Given the description of an element on the screen output the (x, y) to click on. 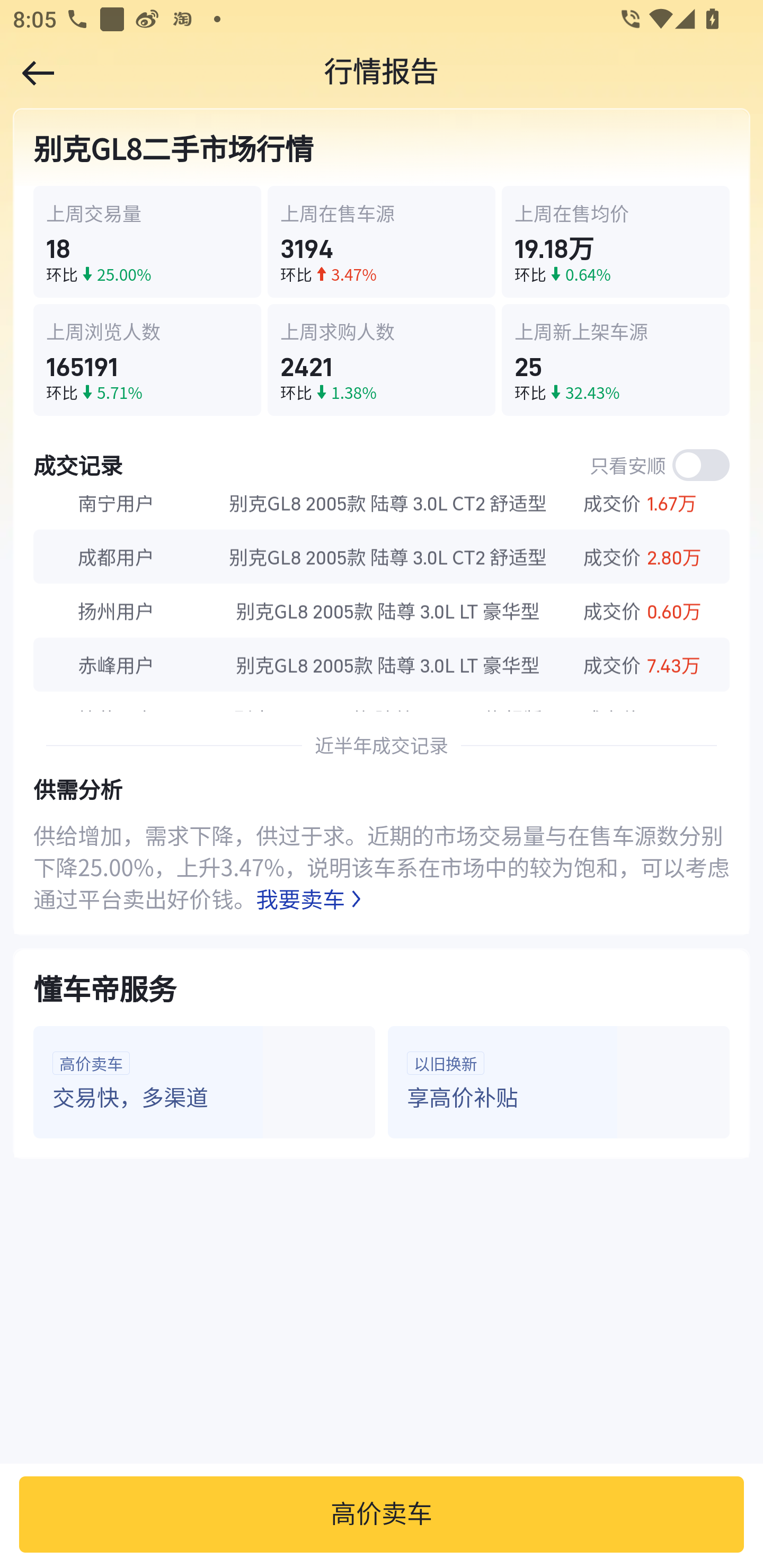
行情报告 (381, 72)
18 环比 25.00 % (147, 242)
上周在售车源 上周在售车源 上周在售车源 3194 环比 3.47 % (381, 242)
上周在售均价 上周在售均价 19.18万 环比 0.64 % (614, 242)
上周在售车源 上周在售车源 上周在售车源 (381, 213)
上周在售均价 (615, 213)
165191 环比 5.71 % (147, 360)
上周求购人数 上周求购人数 上周求购人数 2421 环比 1.38 % (381, 360)
上周新上架车源 上周新上架车源 25 环比 32.43 % (614, 360)
上周求购人数 上周求购人数 上周求购人数 (381, 331)
上周新上架车源 (615, 331)
我要卖车 (311, 898)
高价卖车 交易快，多渠道 (204, 1082)
以旧换新 享高价补贴 (558, 1082)
高价卖车 (381, 1514)
